Given the description of an element on the screen output the (x, y) to click on. 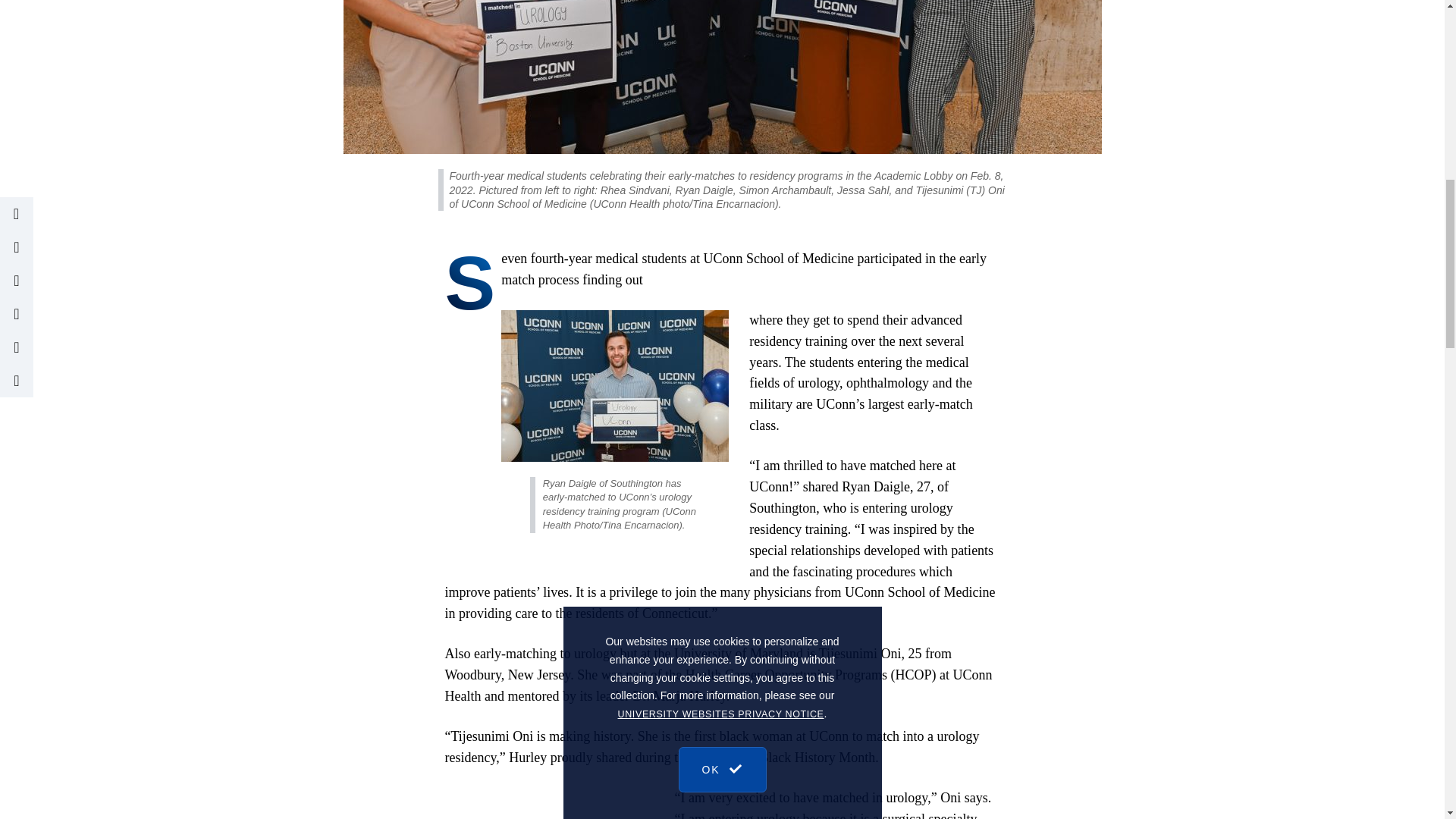
UNIVERSITY WEBSITES PRIVACY NOTICE (720, 82)
OK (721, 122)
